Given the description of an element on the screen output the (x, y) to click on. 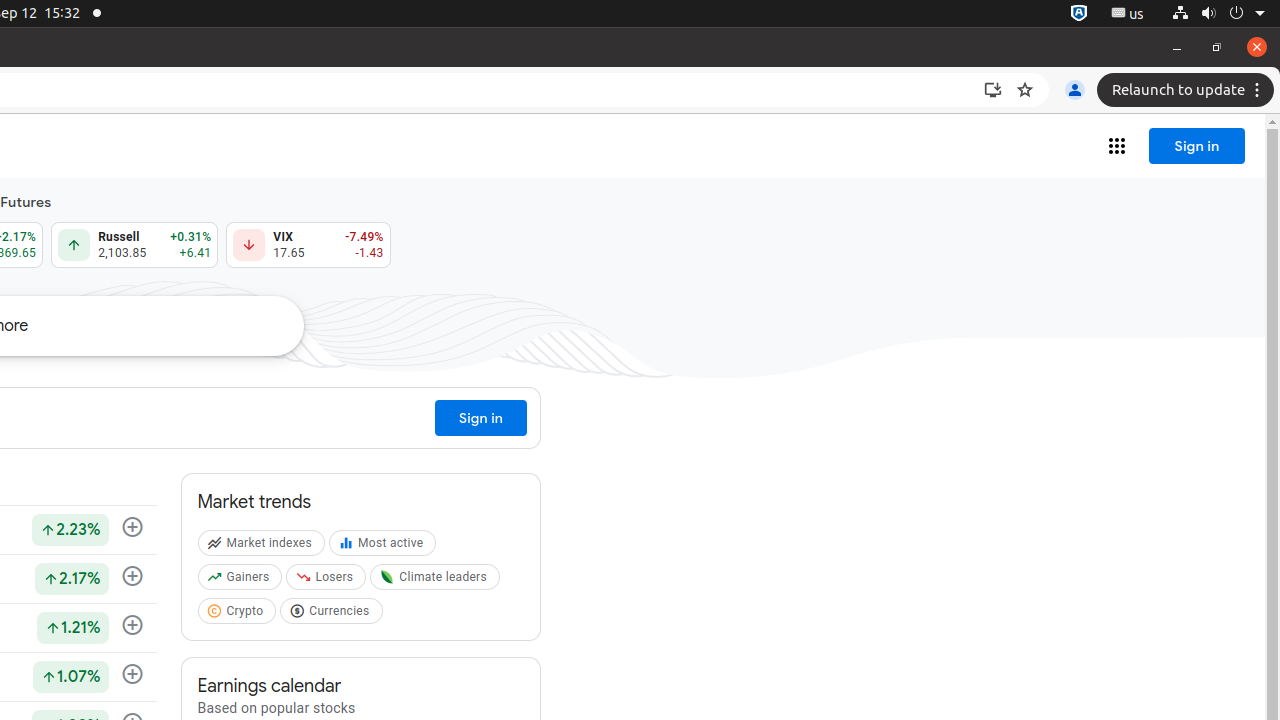
Bookmark this tab Element type: push-button (1025, 90)
Install Google Finance Element type: push-button (993, 90)
Losers Element type: link (328, 581)
You Element type: push-button (1075, 90)
System Element type: menu (1218, 13)
